Given the description of an element on the screen output the (x, y) to click on. 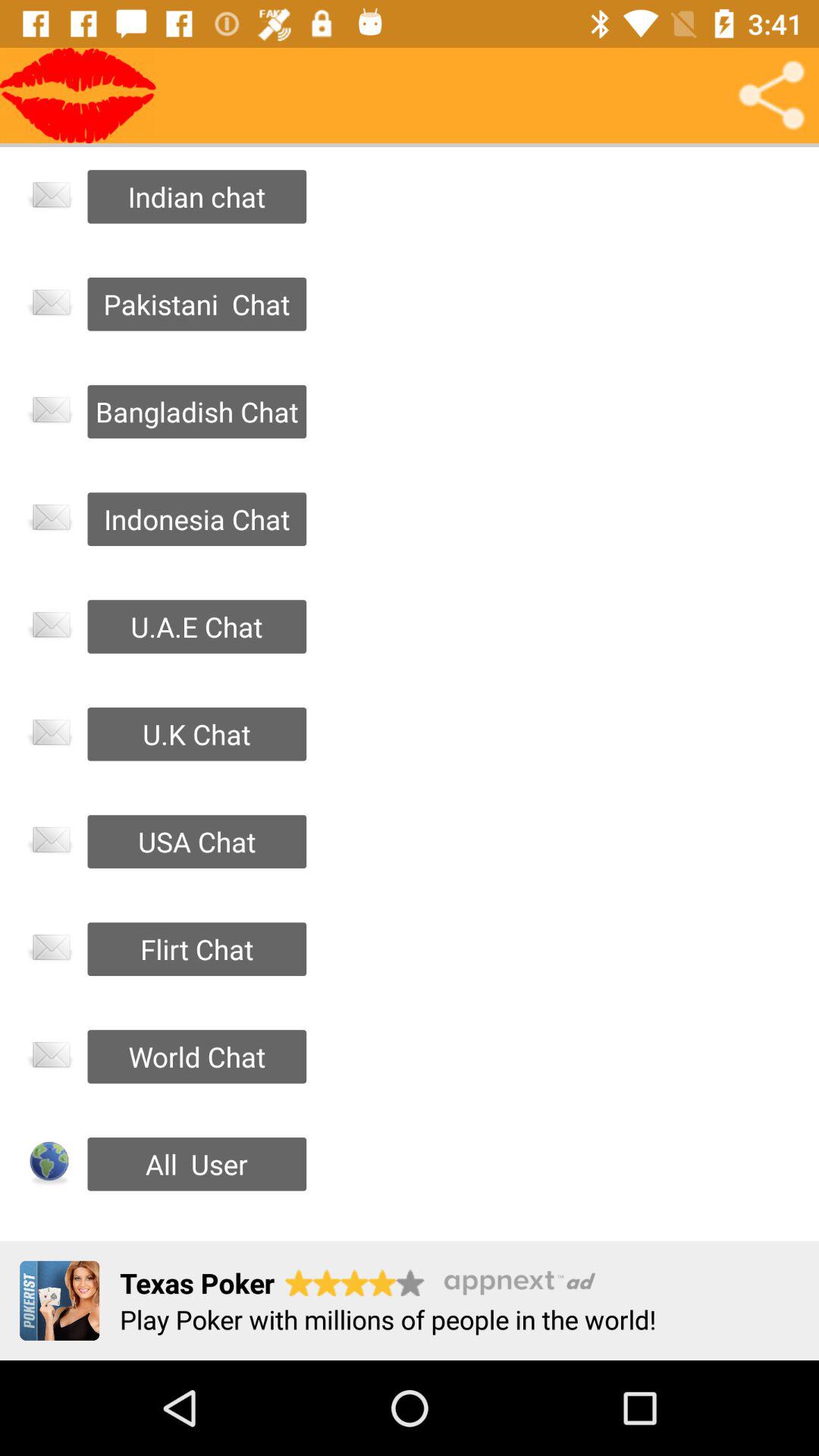
share the content (771, 95)
